Given the description of an element on the screen output the (x, y) to click on. 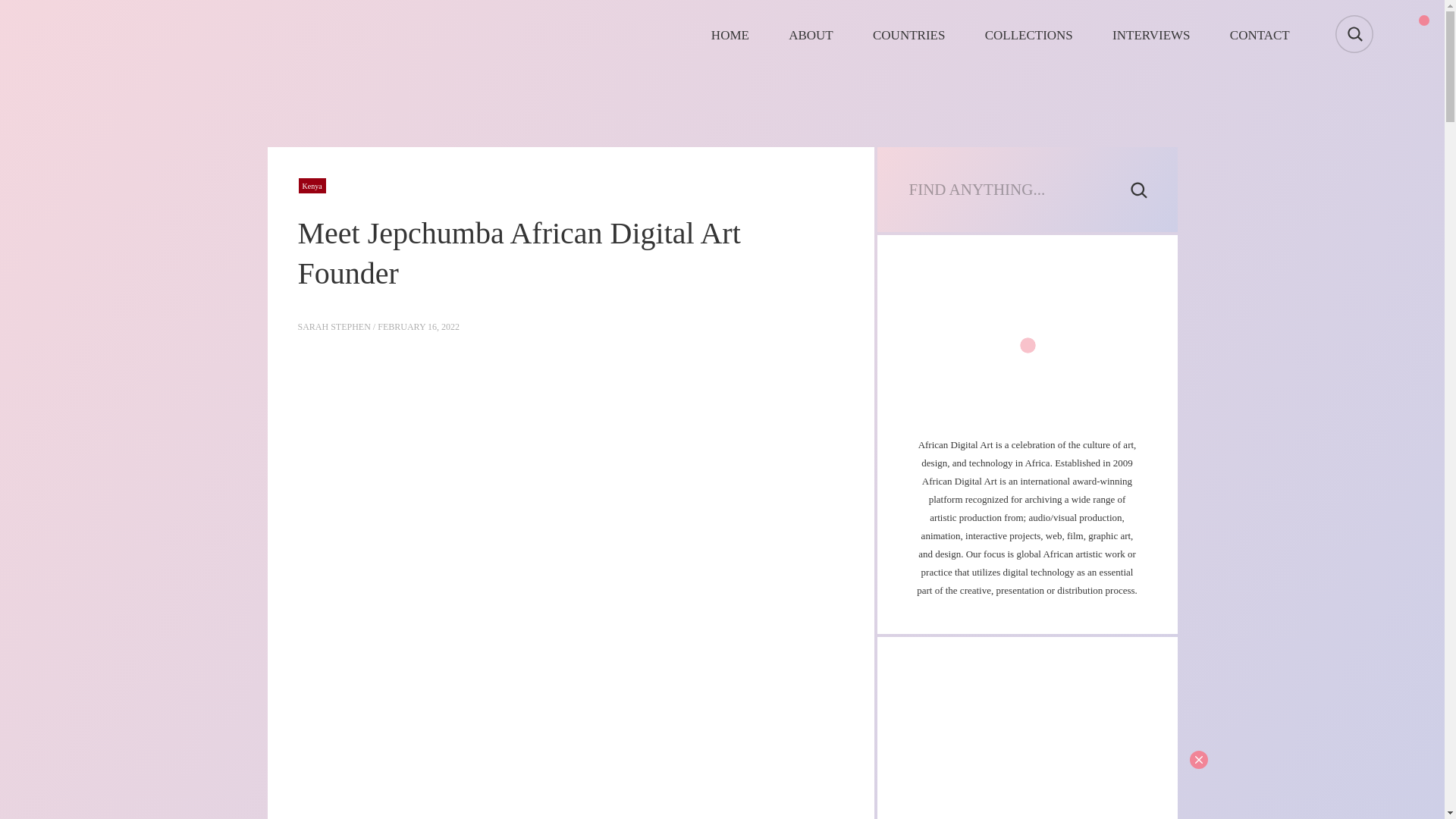
Find Anything... (1014, 189)
